Given the description of an element on the screen output the (x, y) to click on. 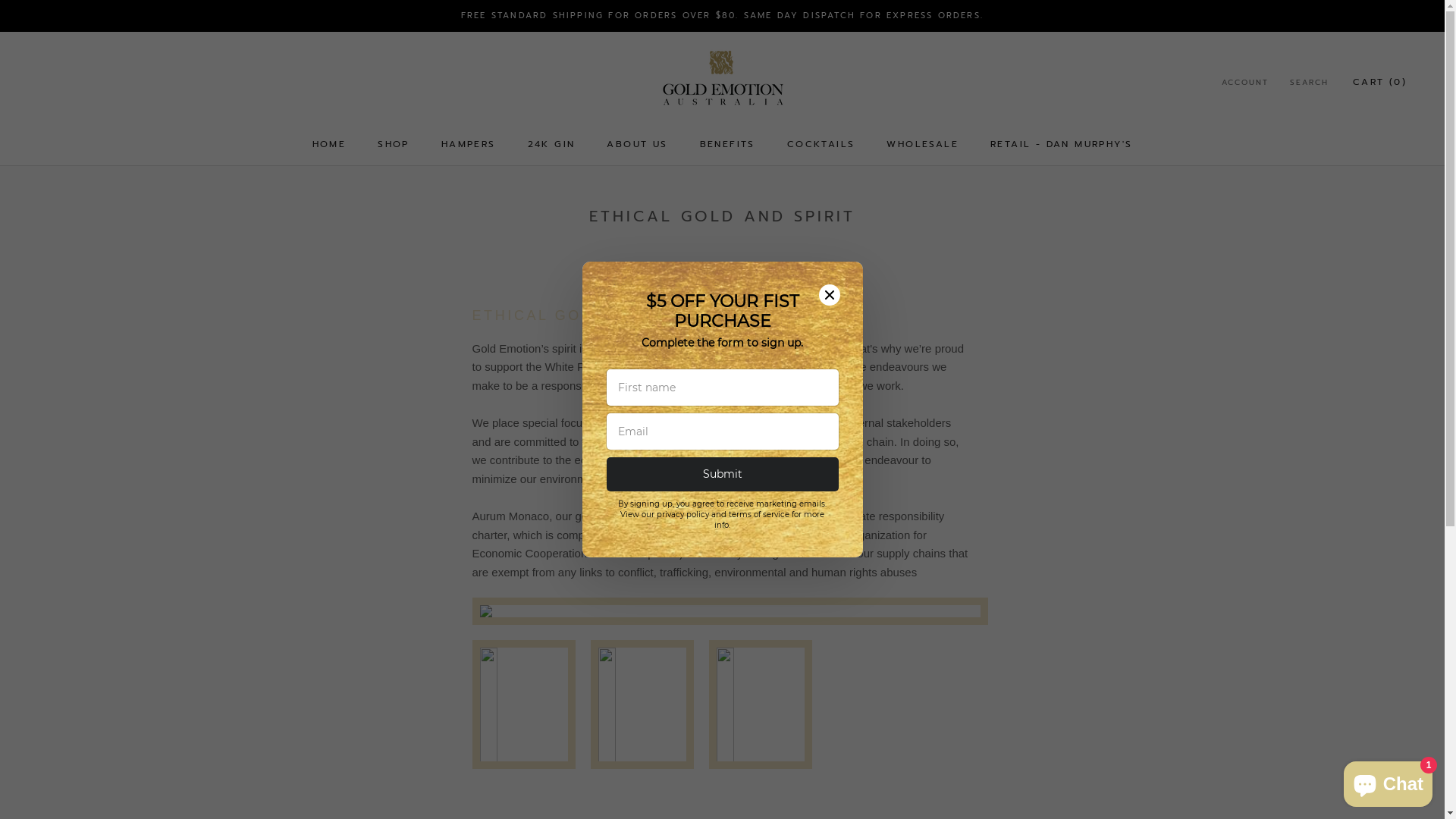
Shopify online store chat Element type: hover (1388, 780)
ACCOUNT Element type: text (1244, 82)
ABOUT US
ABOUT US Element type: text (636, 143)
CART (0) Element type: text (1379, 81)
SHOP Element type: text (393, 143)
HAMPERS Element type: text (468, 143)
SEARCH Element type: text (1308, 82)
HOME
HOME Element type: text (329, 143)
WHOLESALE
WHOLESALE Element type: text (922, 143)
24K GIN
24K GIN Element type: text (551, 143)
RETAIL - DAN MURPHY'S
RETAIL - DAN MURPHY'S Element type: text (1061, 143)
COCKTAILS
COCKTAILS Element type: text (821, 143)
BENEFITS
BENEFITS Element type: text (727, 143)
